Given the description of an element on the screen output the (x, y) to click on. 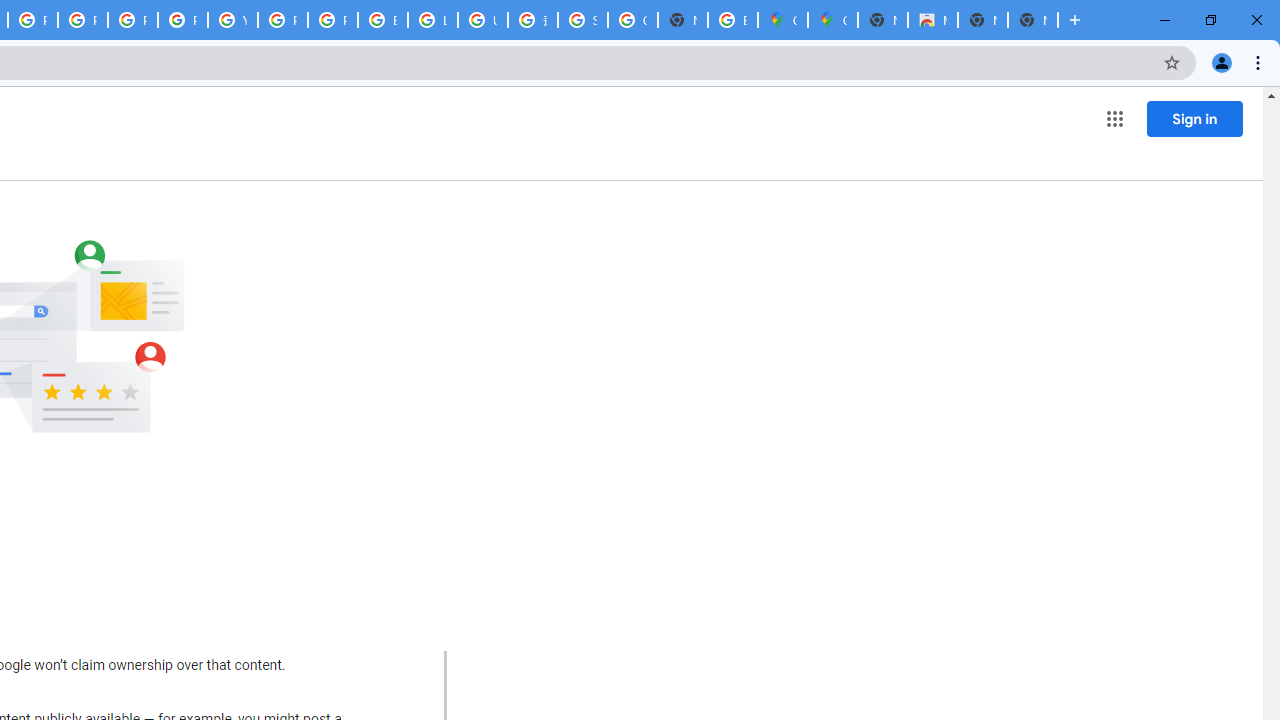
New Tab (1032, 20)
Browse Chrome as a guest - Computer - Google Chrome Help (383, 20)
Privacy Help Center - Policies Help (132, 20)
New Tab (882, 20)
Google Maps (782, 20)
YouTube (232, 20)
